Given the description of an element on the screen output the (x, y) to click on. 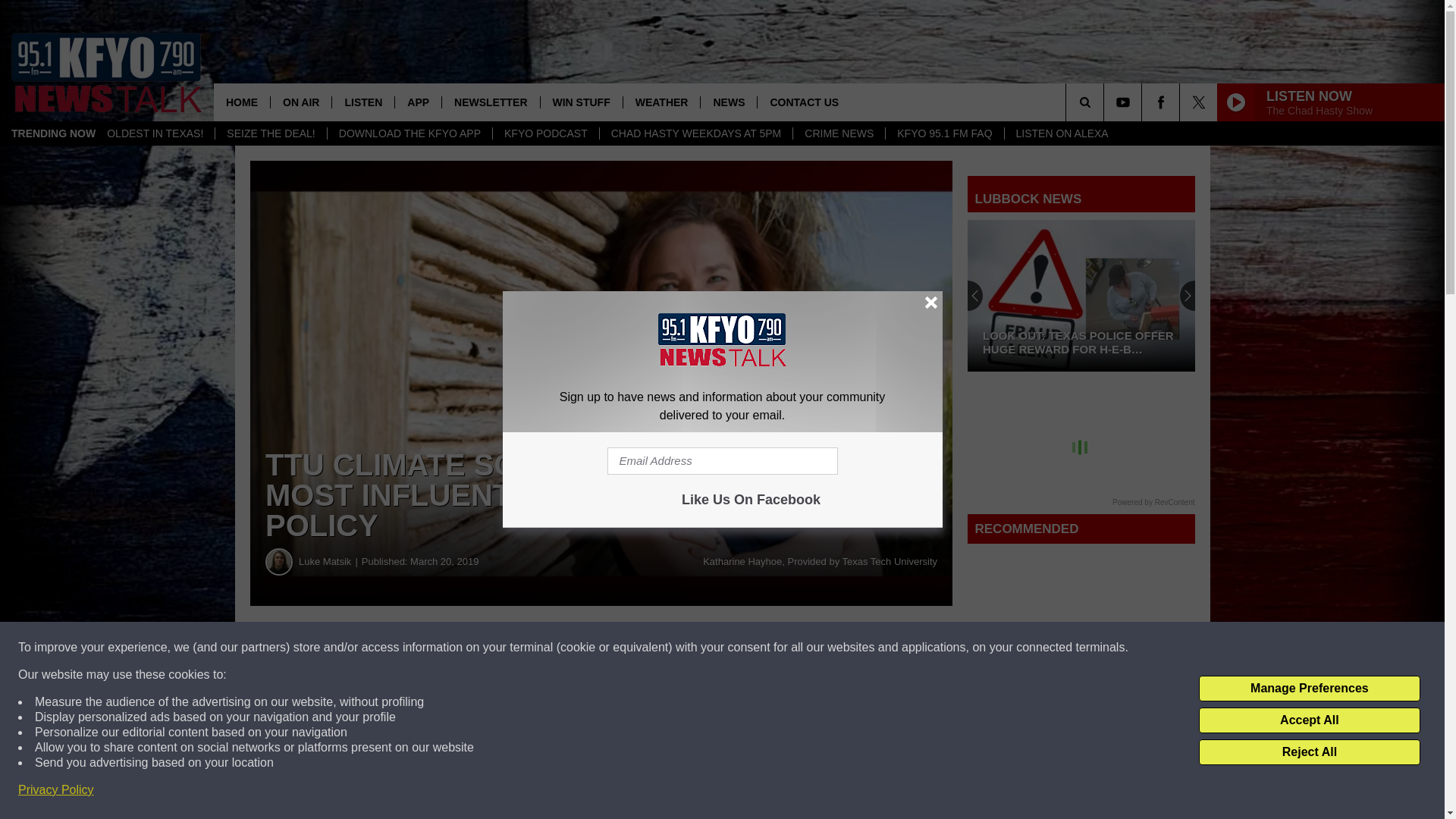
Share on Twitter (741, 647)
CRIME NEWS (838, 133)
Manage Preferences (1309, 688)
Privacy Policy (55, 789)
LISTEN ON ALEXA (1061, 133)
DOWNLOAD THE KFYO APP (409, 133)
Email Address (722, 461)
Reject All (1309, 751)
OLDEST IN TEXAS! (155, 133)
WIN STUFF (581, 102)
ON AIR (300, 102)
SEIZE THE DEAL! (270, 133)
APP (417, 102)
Accept All (1309, 720)
LISTEN (362, 102)
